Given the description of an element on the screen output the (x, y) to click on. 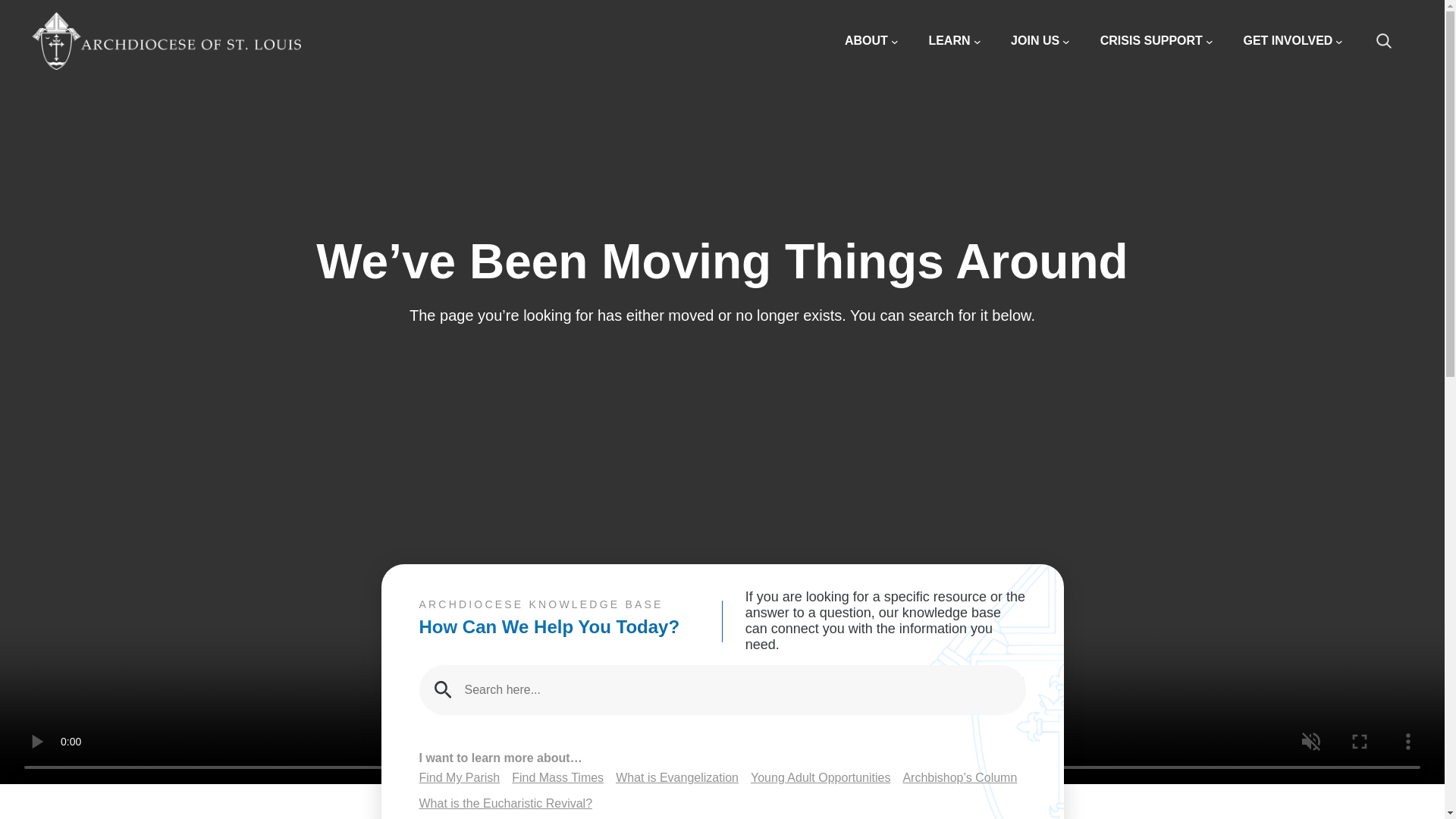
search (1392, 40)
CRISIS SUPPORT (1156, 40)
ABOUT (871, 40)
GET INVOLVED (1292, 40)
LEARN (953, 40)
JOIN US (1040, 40)
